Given the description of an element on the screen output the (x, y) to click on. 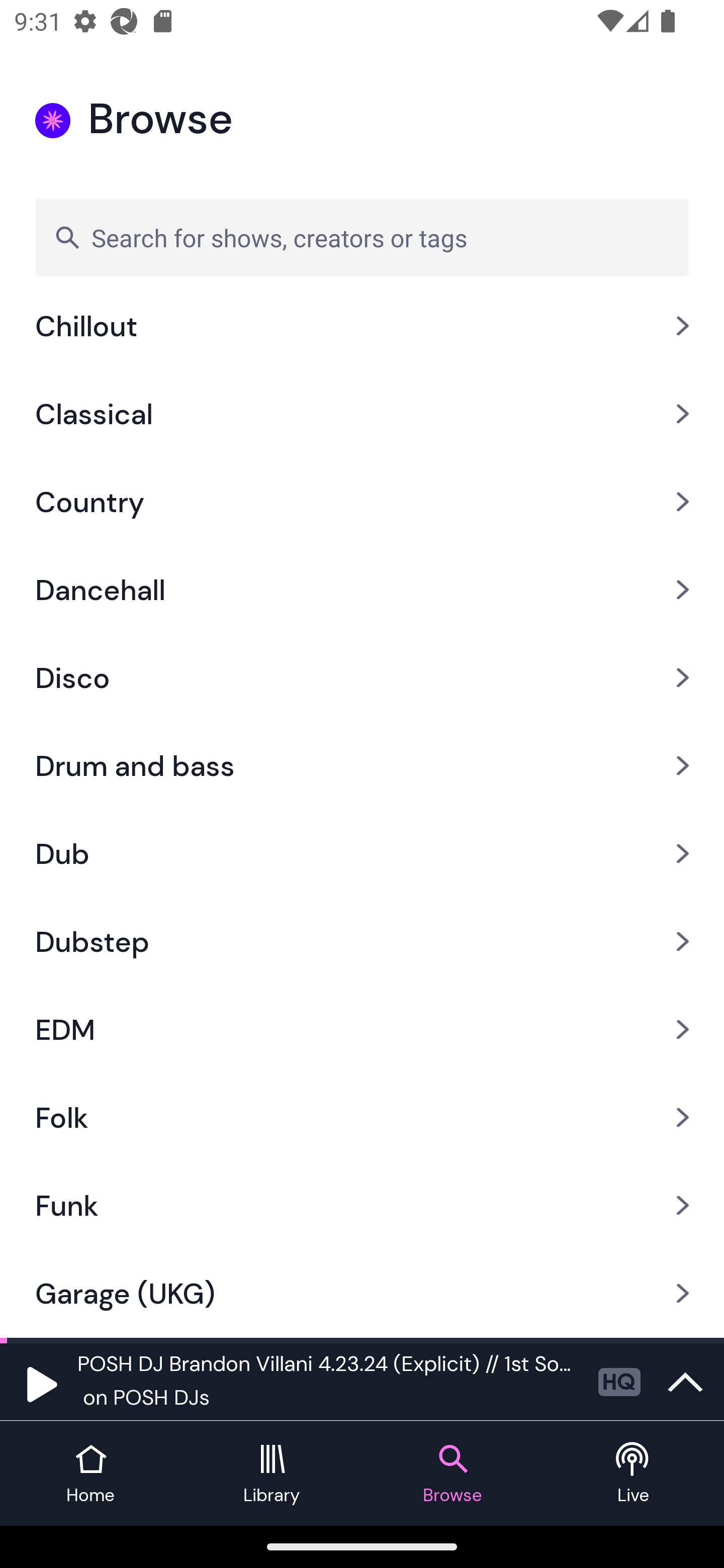
Search for shows, creators or tags (361, 237)
Chillout (361, 336)
Classical (361, 413)
Country (361, 501)
Dancehall (361, 589)
Disco (361, 677)
Drum and bass (361, 765)
Dub (361, 852)
Dubstep (361, 941)
EDM (361, 1030)
Folk (361, 1117)
Funk (361, 1205)
Garage (UKG) (361, 1293)
Home tab Home (90, 1473)
Library tab Library (271, 1473)
Browse tab Browse (452, 1473)
Live tab Live (633, 1473)
